Given the description of an element on the screen output the (x, y) to click on. 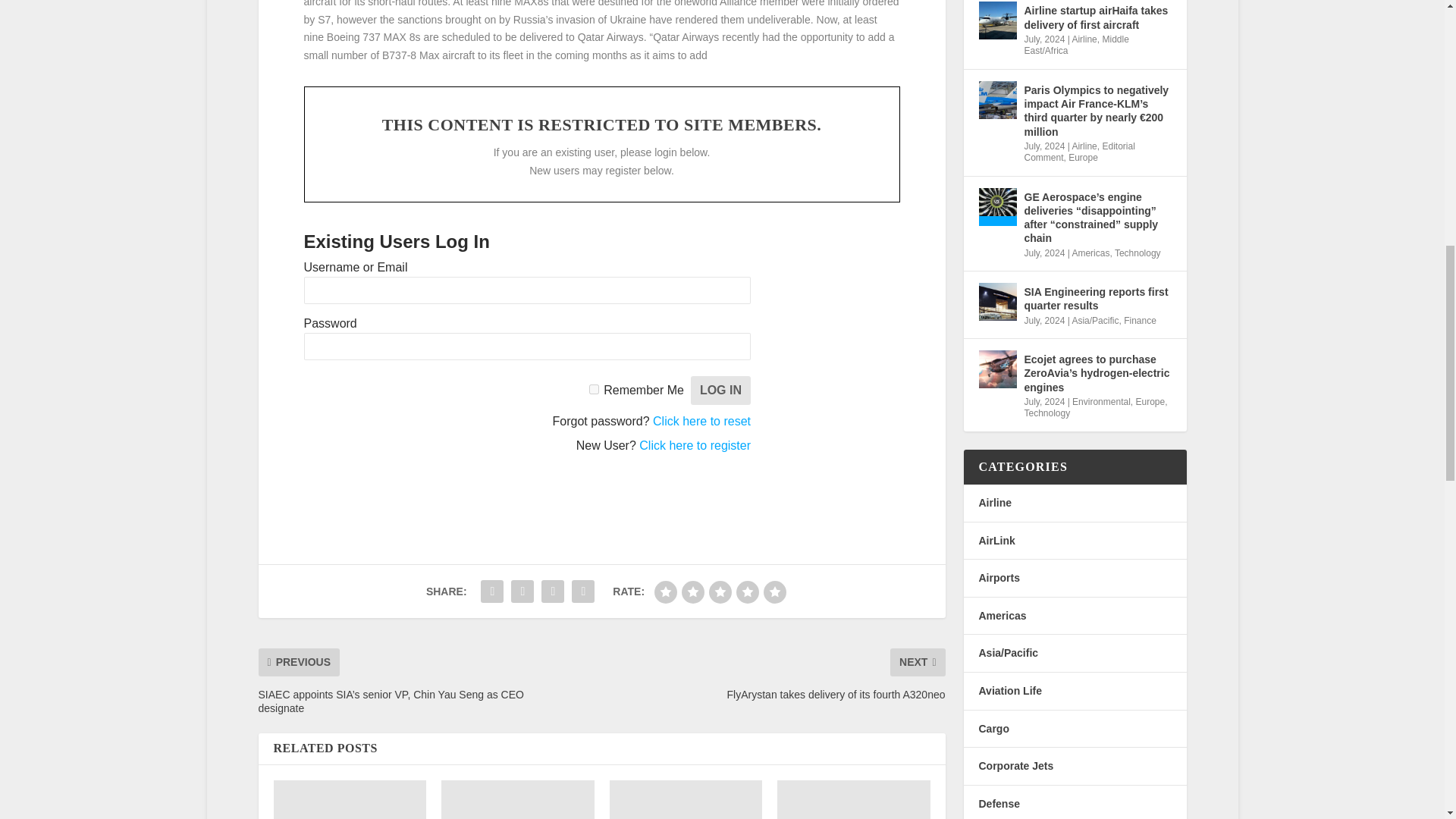
Scoot mulls services to Melbourne (349, 799)
forever (593, 388)
Log In (720, 389)
bad (665, 591)
gorgeous (774, 591)
poor (692, 591)
regular (720, 591)
good (747, 591)
